Given the description of an element on the screen output the (x, y) to click on. 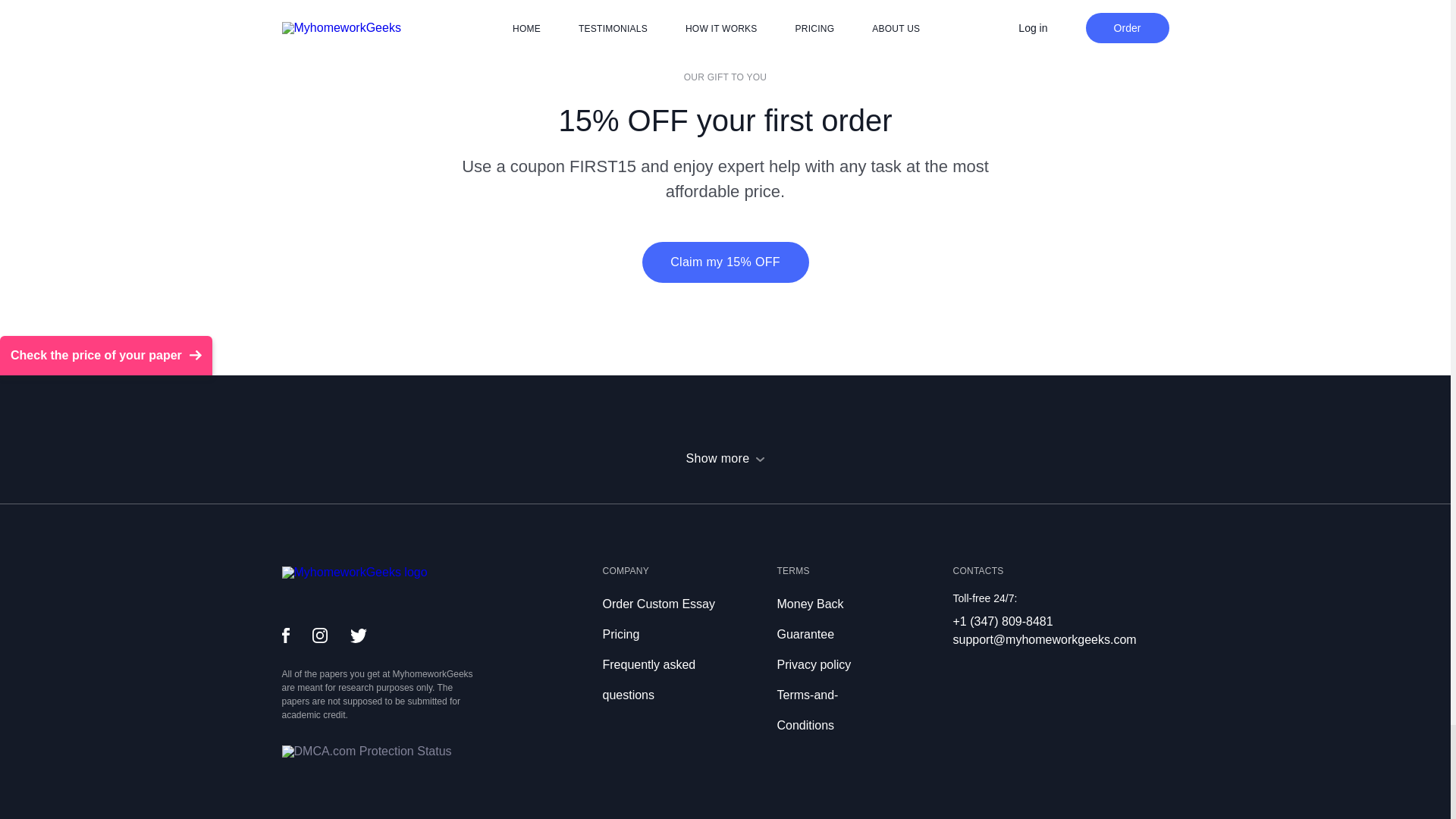
Pricing (620, 634)
Frequently asked questions (648, 679)
Money Back Guarantee (809, 618)
Privacy policy (813, 664)
Terms-and-Conditions (807, 710)
Show more (725, 458)
Order Custom Essay (658, 603)
